Given the description of an element on the screen output the (x, y) to click on. 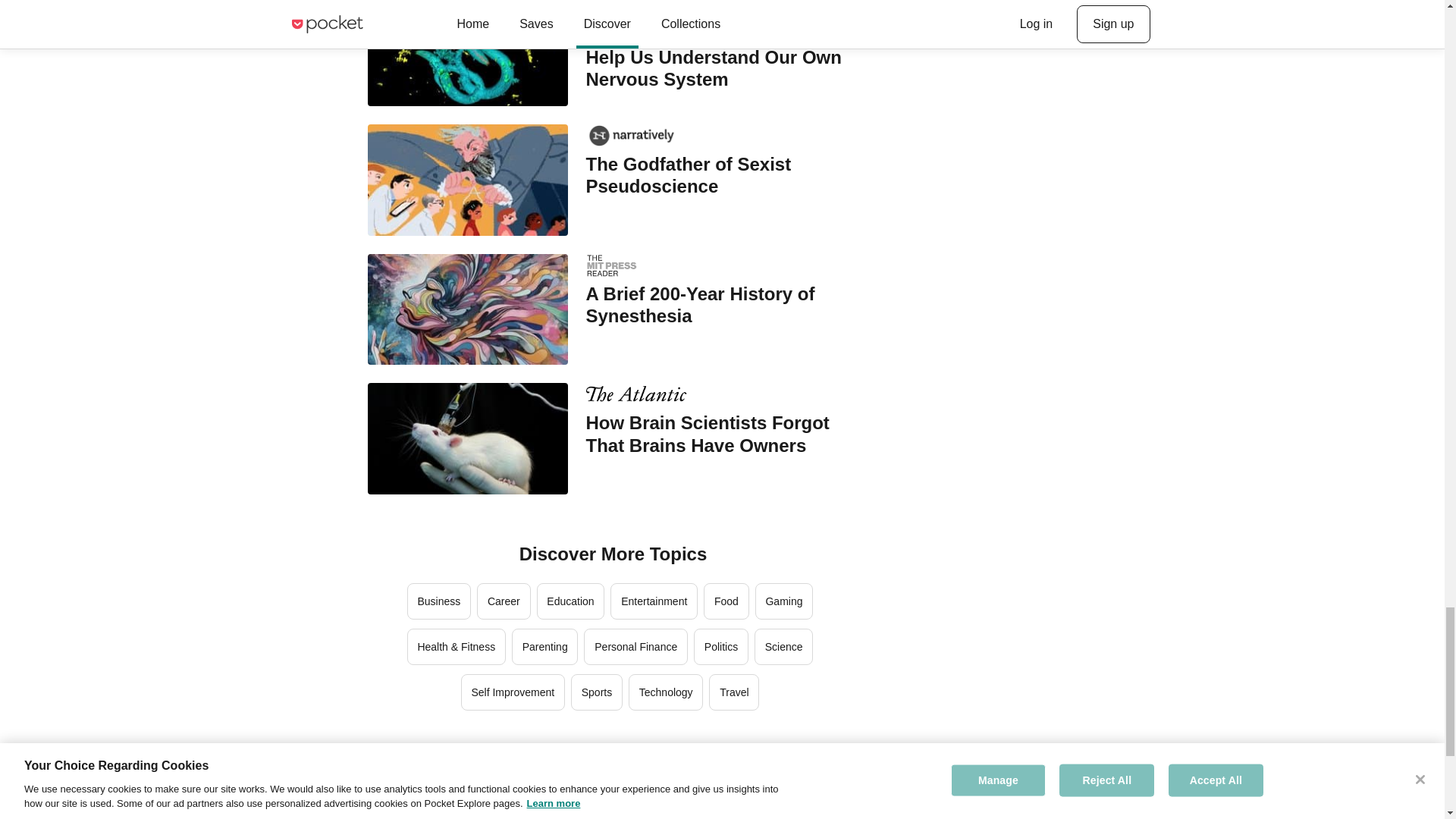
A Brief 200-Year History of Synesthesia (722, 304)
Business (438, 601)
The Godfather of Sexist Pseudoscience (722, 175)
How Brain Scientists Forgot That Brains Have Owners (722, 433)
